Given the description of an element on the screen output the (x, y) to click on. 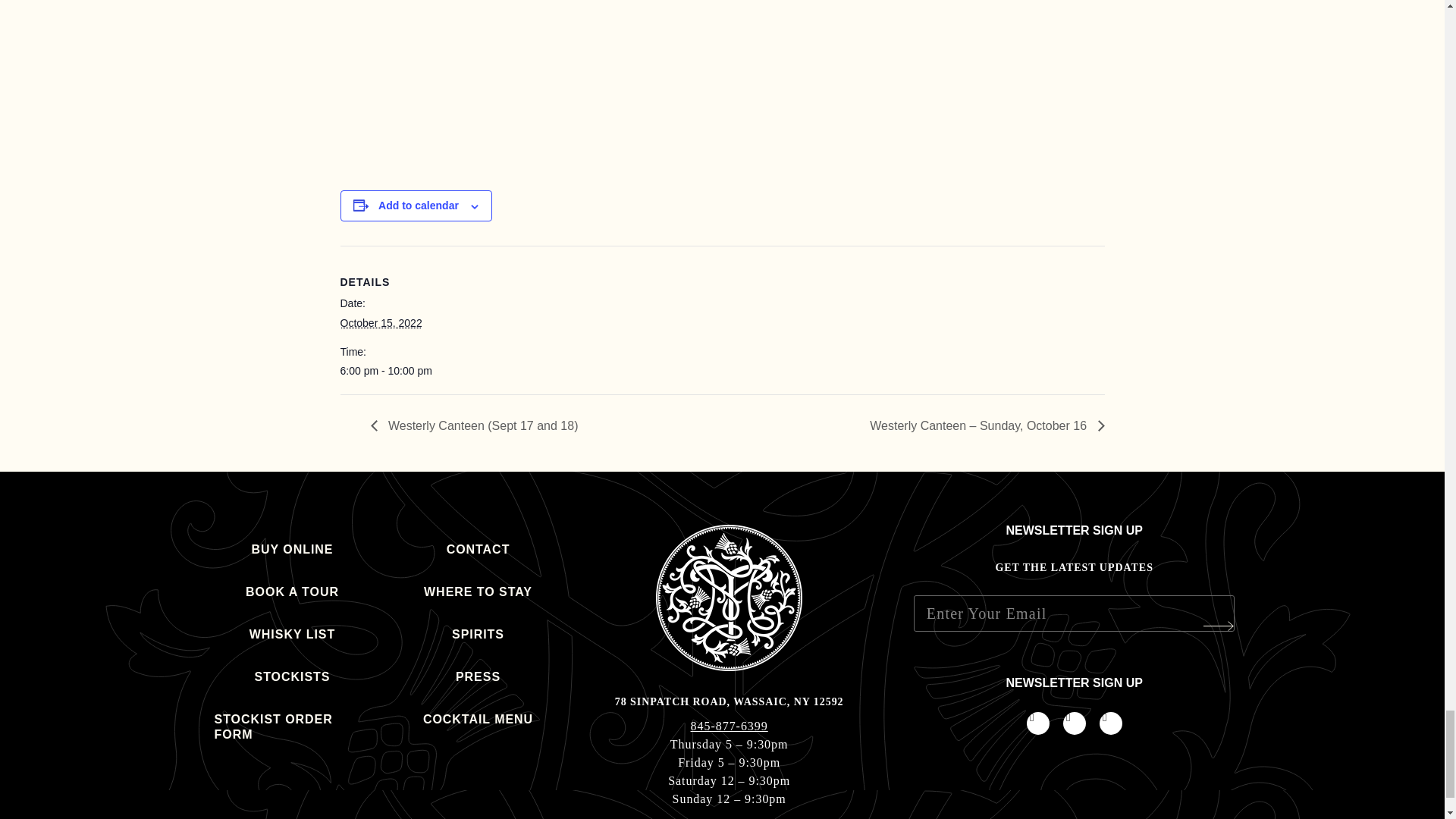
Add to calendar (418, 205)
2022-10-15 (380, 322)
2022-10-15 (403, 371)
